Given the description of an element on the screen output the (x, y) to click on. 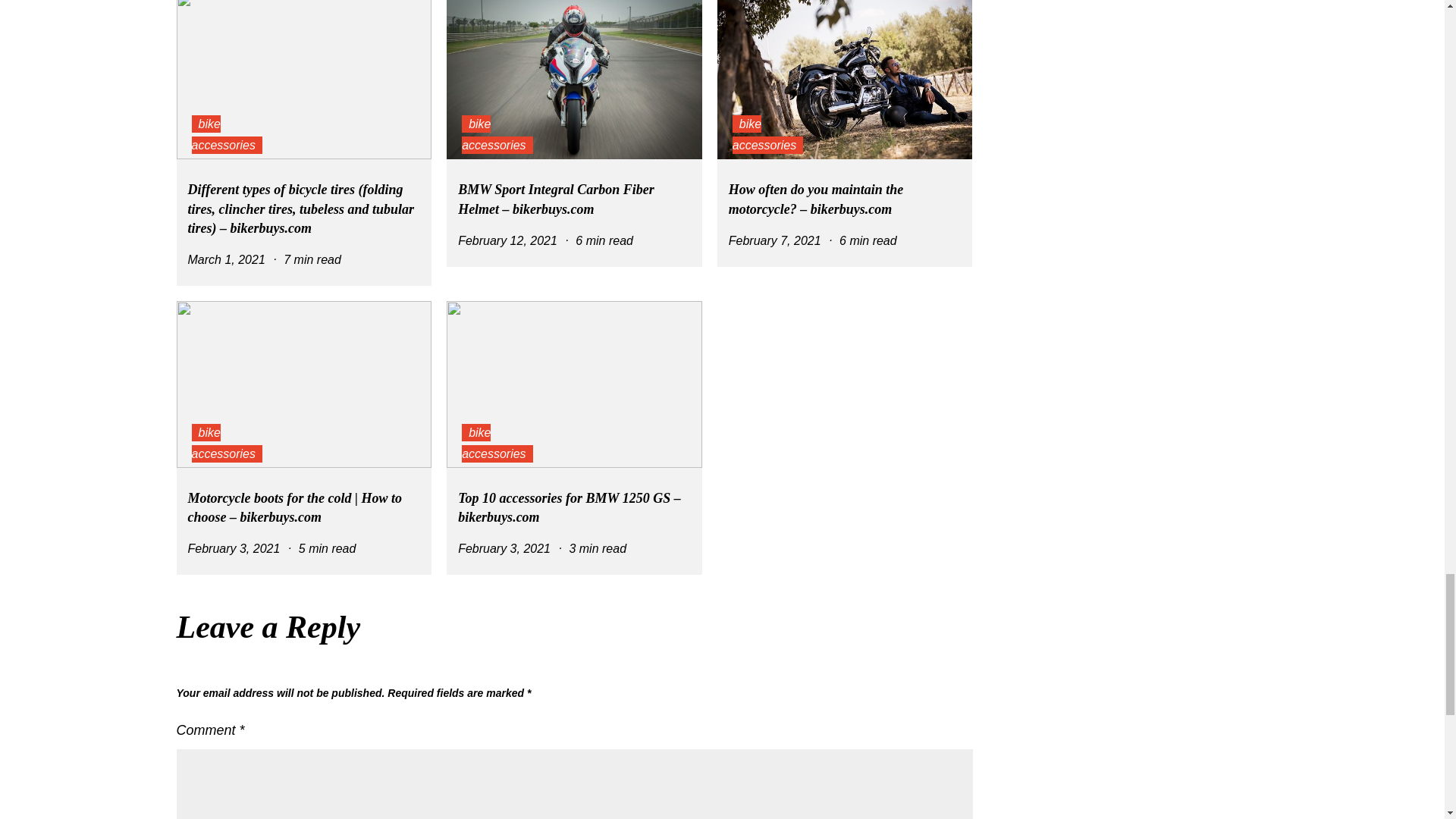
bike accessories (496, 134)
bike accessories (767, 134)
February 7, 2021 (775, 239)
bike accessories (226, 443)
bike accessories (226, 134)
March 1, 2021 (225, 259)
February 12, 2021 (507, 239)
